Given the description of an element on the screen output the (x, y) to click on. 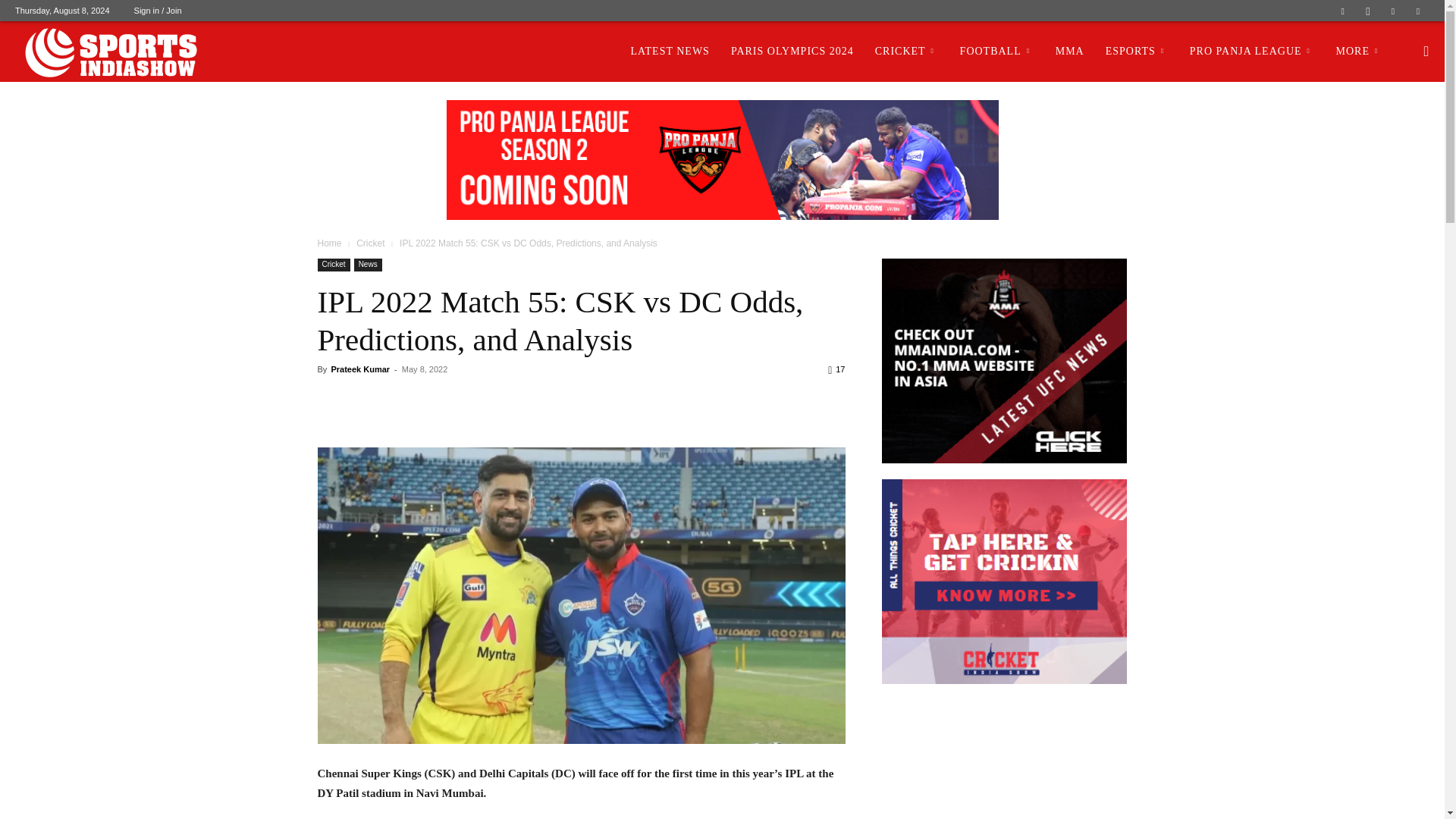
Youtube (1417, 10)
Facebook (1343, 10)
Twitter (1393, 10)
Instagram (1367, 10)
